Given the description of an element on the screen output the (x, y) to click on. 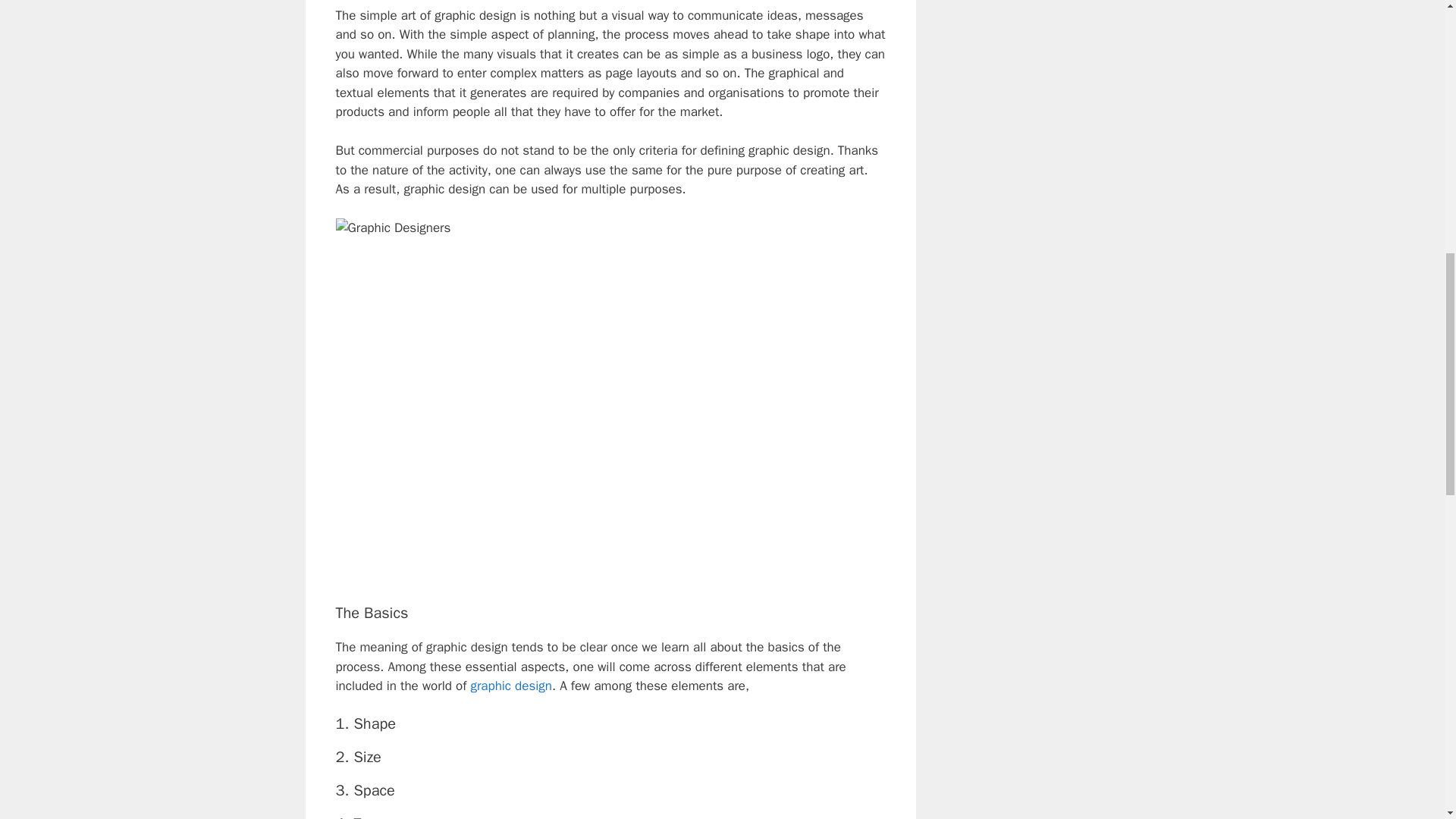
graphic design (510, 685)
